Given the description of an element on the screen output the (x, y) to click on. 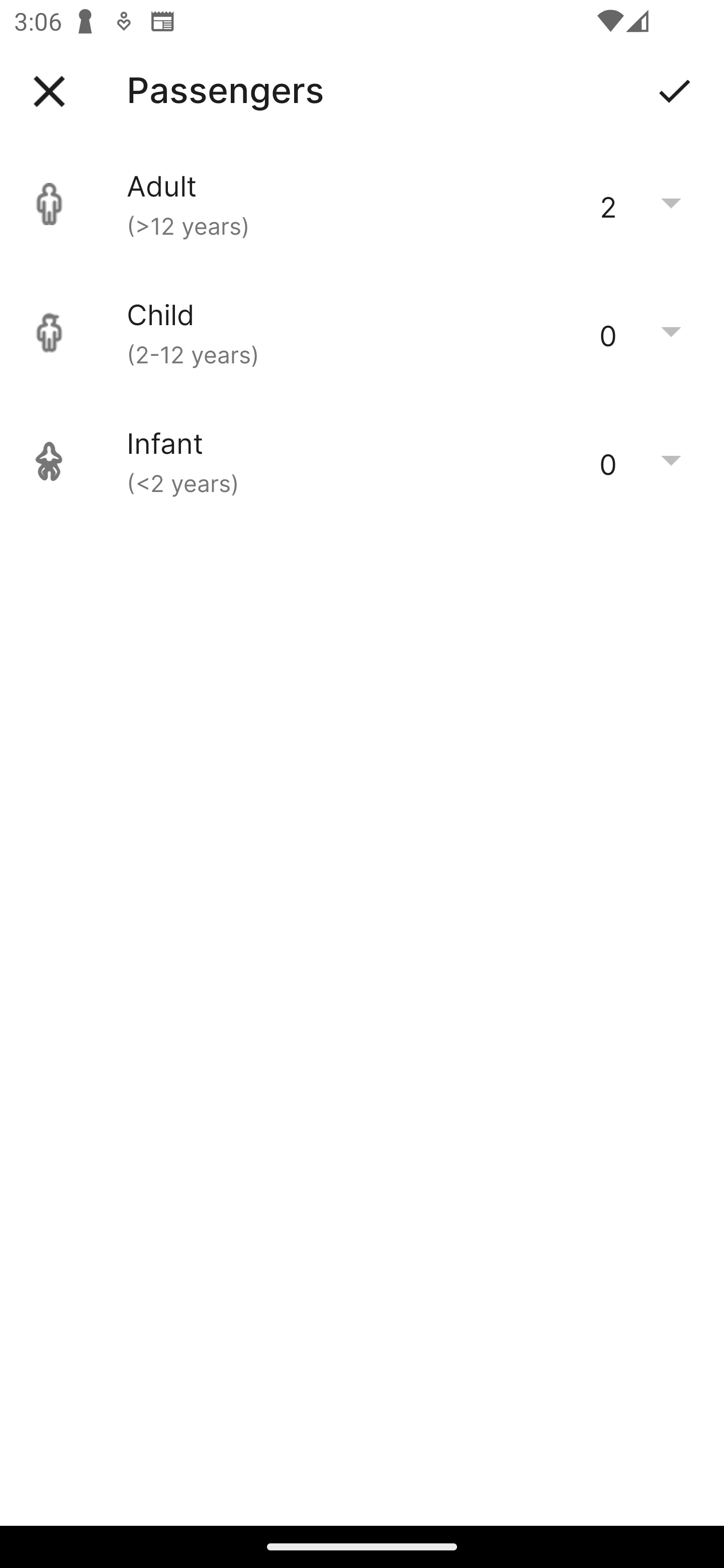
Adult (>12 years) 2 (362, 204)
Child (2-12 years) 0 (362, 332)
Infant (<2 years) 0 (362, 461)
